Given the description of an element on the screen output the (x, y) to click on. 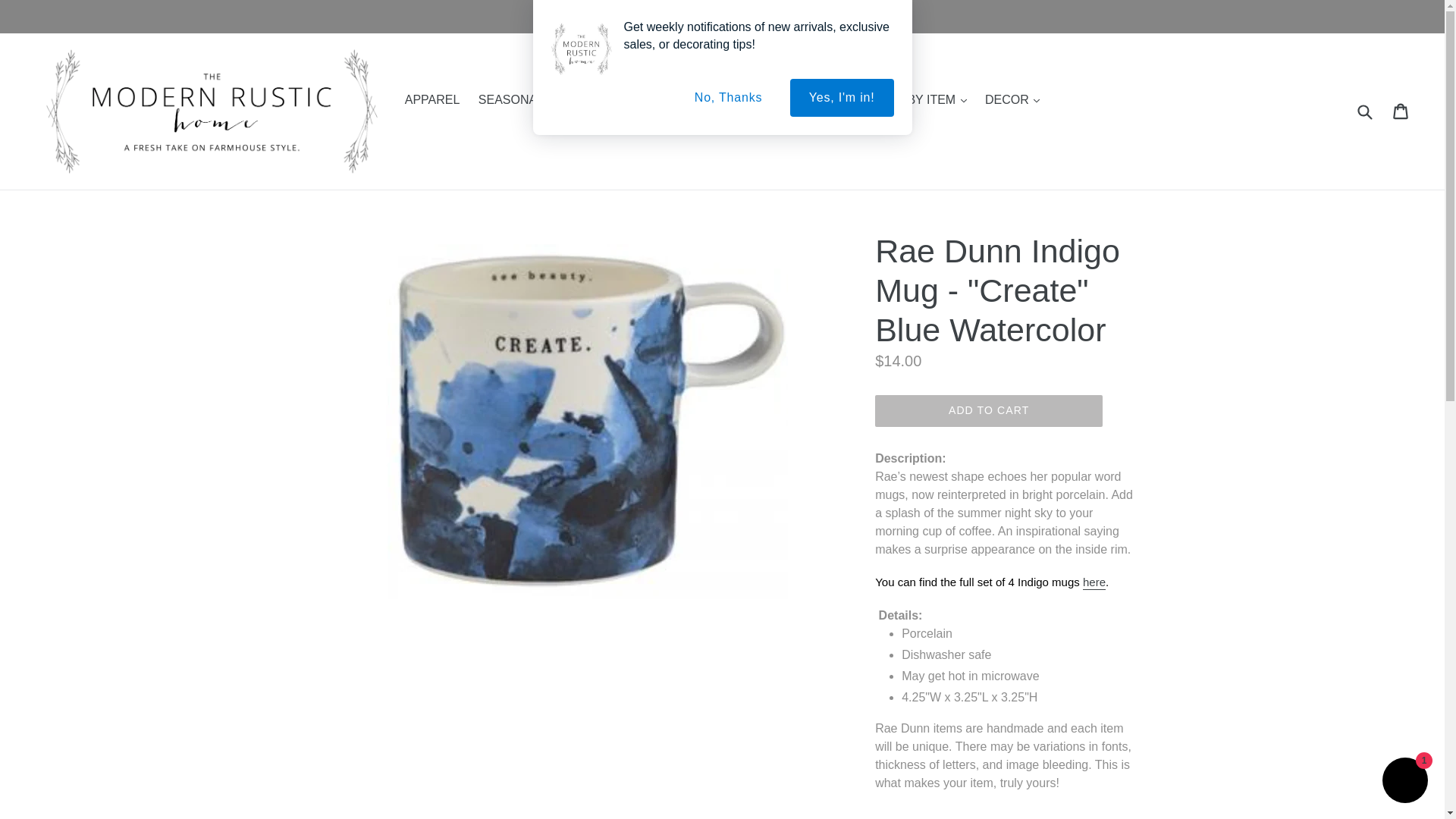
Shopify online store chat (1404, 781)
